Given the description of an element on the screen output the (x, y) to click on. 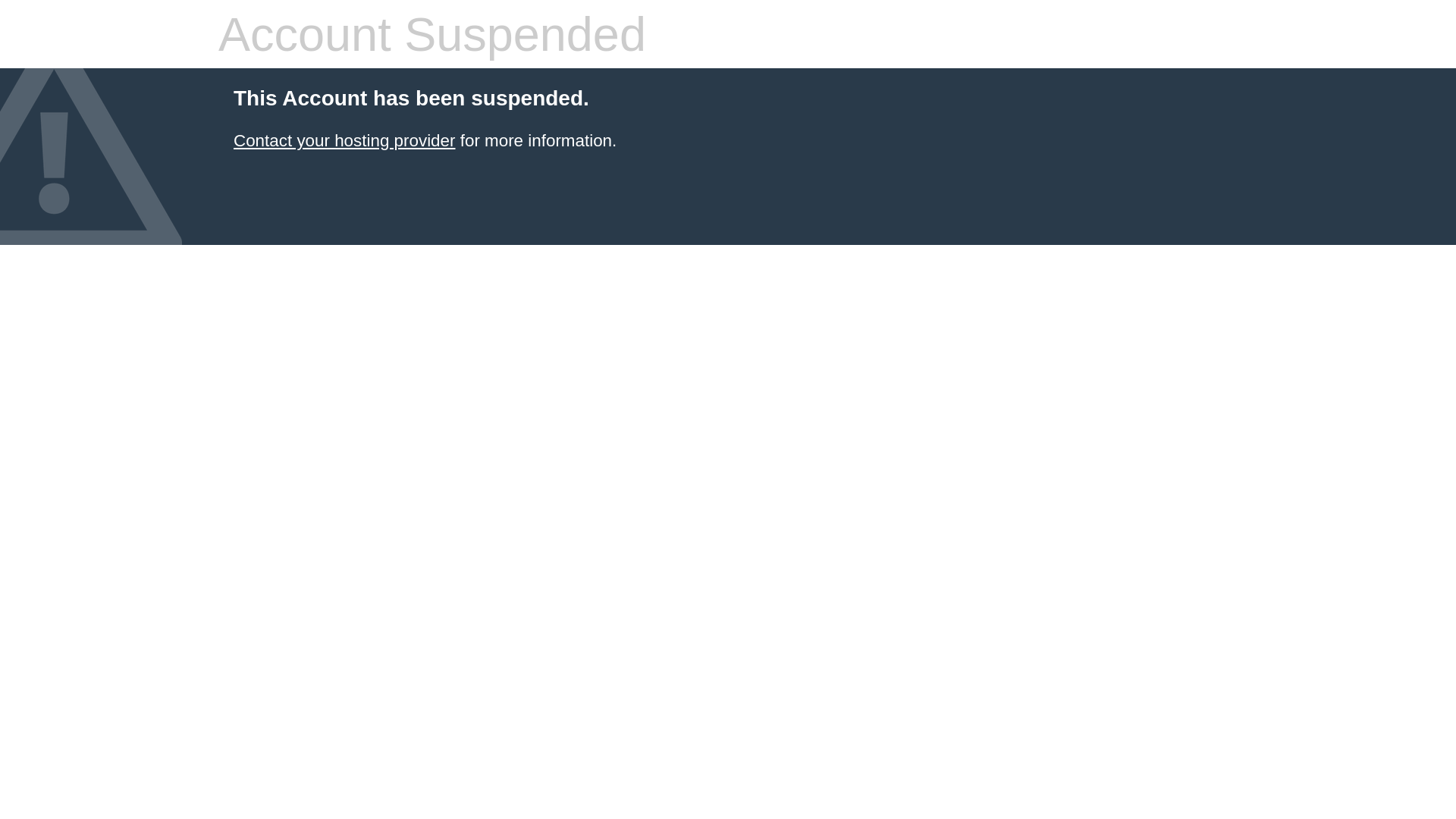
Contact your hosting provider Element type: text (344, 140)
